Given the description of an element on the screen output the (x, y) to click on. 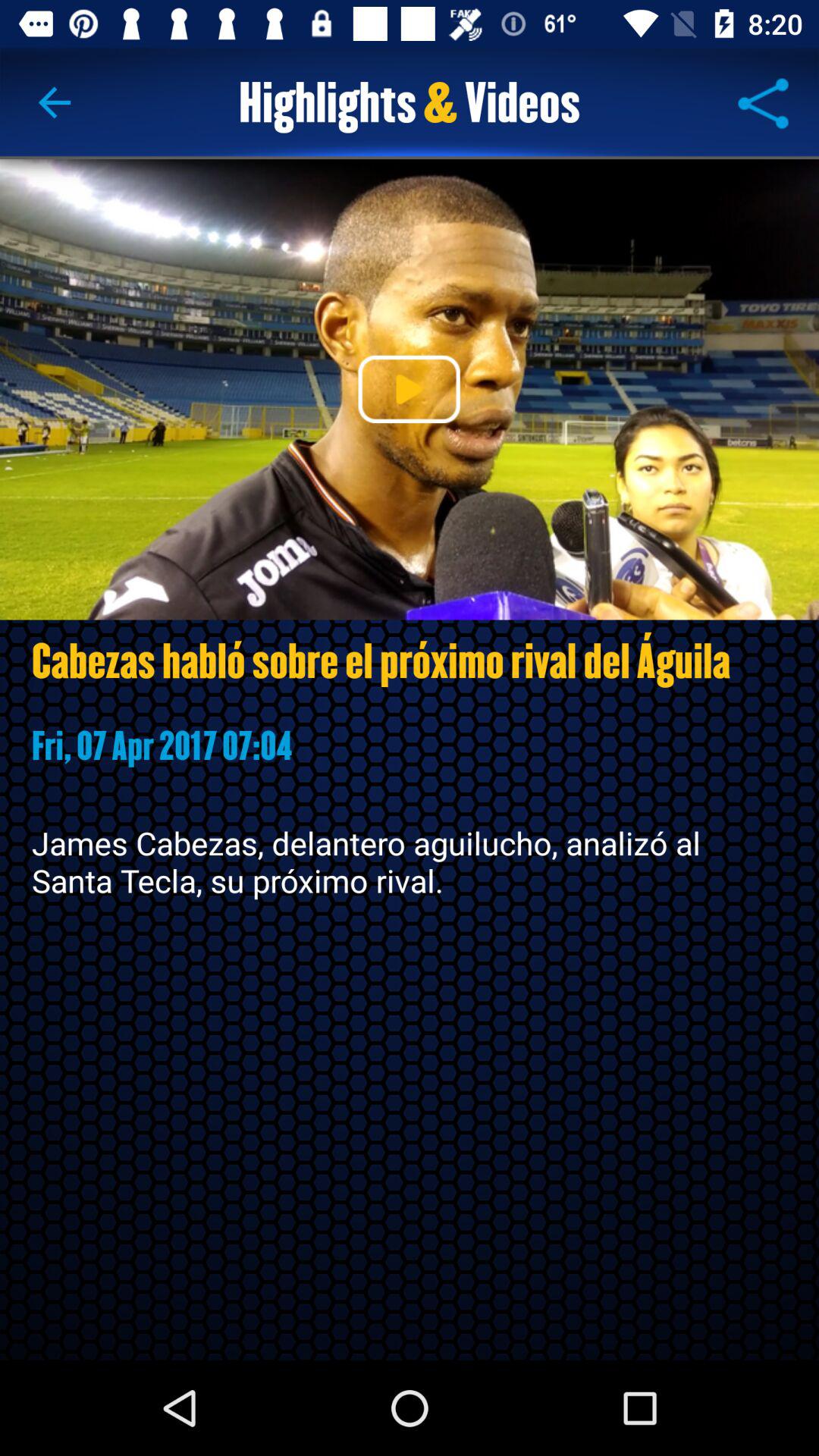
launch the icon at the top left corner (55, 103)
